Given the description of an element on the screen output the (x, y) to click on. 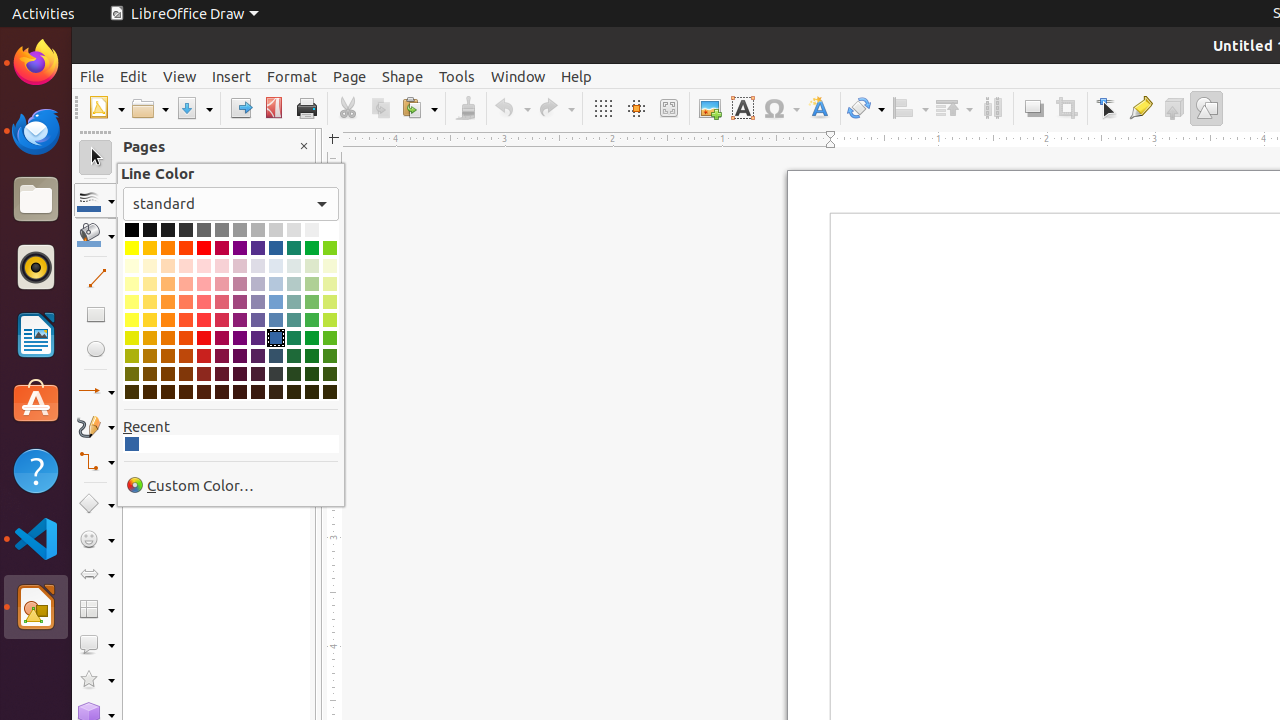
File Element type: menu (92, 76)
Light Yellow 2 Element type: list-item (132, 302)
Crop Element type: push-button (1066, 108)
Green Element type: list-item (312, 248)
Light Blue 1 Element type: list-item (276, 320)
